Given the description of an element on the screen output the (x, y) to click on. 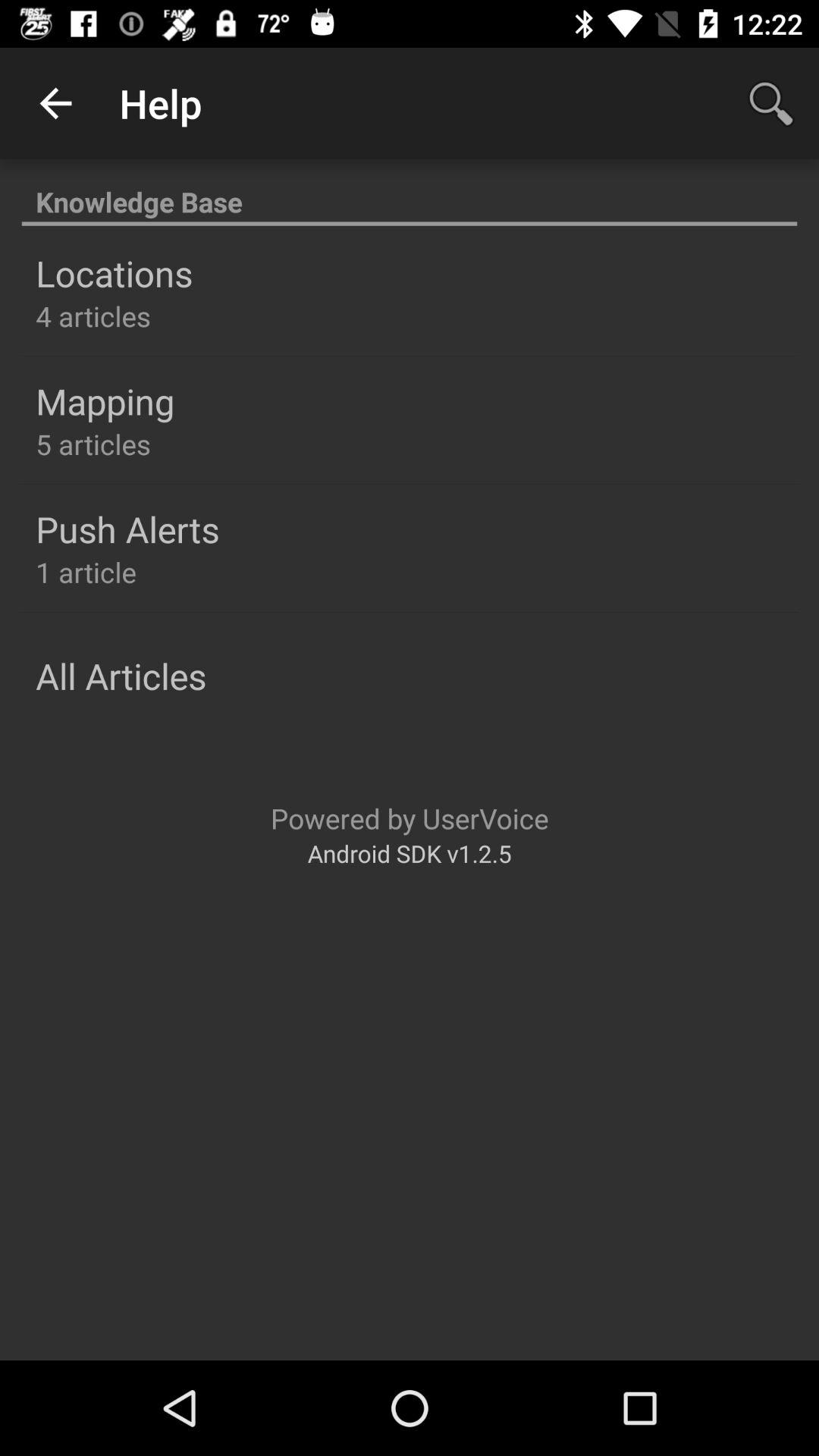
tap the item above the android sdk v1 (409, 818)
